Given the description of an element on the screen output the (x, y) to click on. 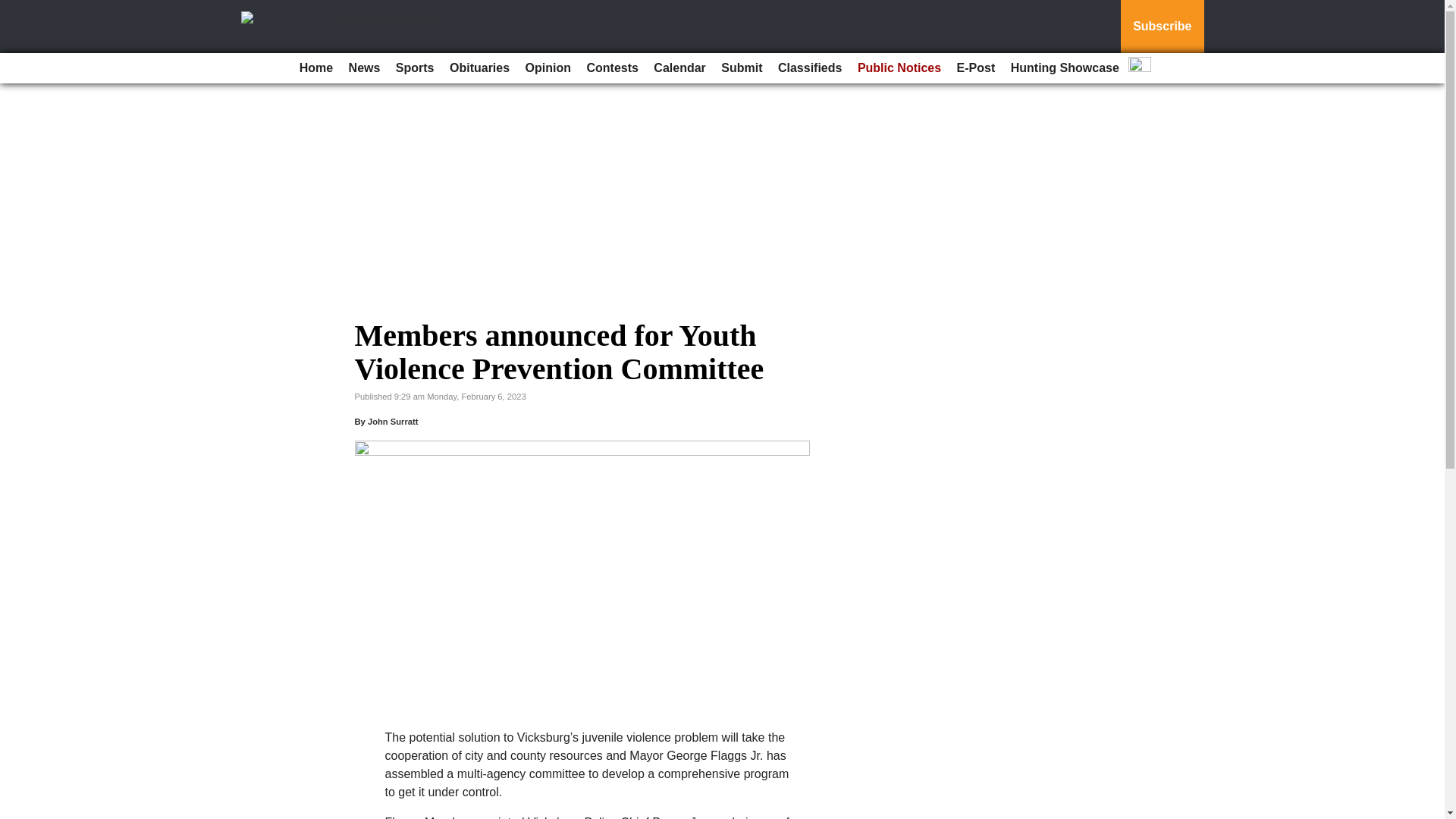
Classifieds (809, 68)
Obituaries (479, 68)
Contests (611, 68)
Subscribe (1162, 26)
Opinion (547, 68)
Calendar (679, 68)
Sports (415, 68)
Submit (741, 68)
Hunting Showcase (1064, 68)
News (364, 68)
